Given the description of an element on the screen output the (x, y) to click on. 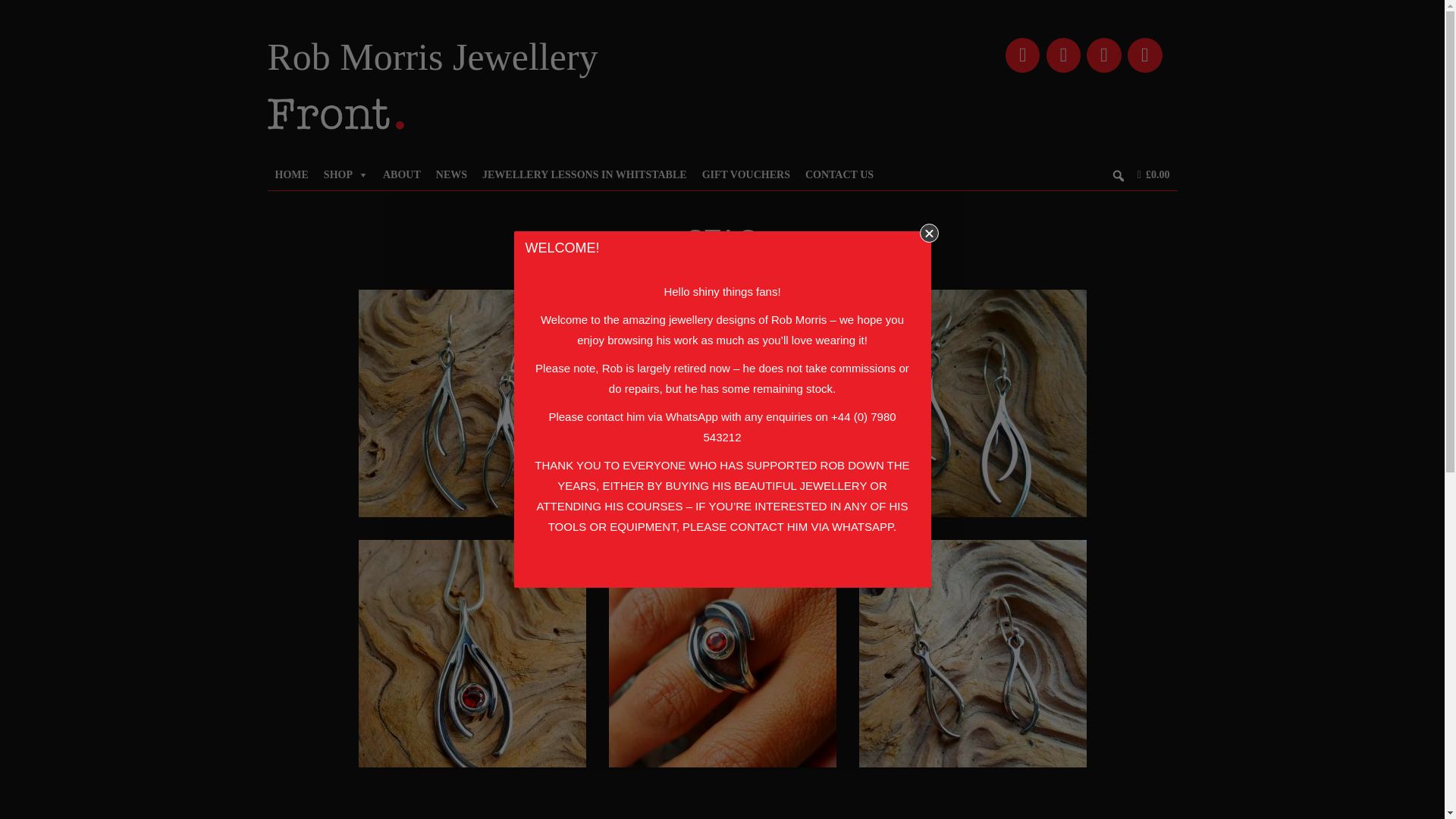
Stag Pendant Necklace by Rob Morris (471, 652)
Stag Short Drop Earrings by Rob Morris (972, 652)
GIFT VOUCHERS (745, 173)
Stag Medium Drop Earrings by Rob Morris (972, 401)
JEWELLERY LESSONS IN WHITSTABLE (584, 173)
Search (11, 12)
Stag Long Drop Earrings with Garnet by Rob Morris (721, 401)
Stag Ring by Rob Morris (721, 652)
SHOP (345, 173)
NEWS (451, 173)
